Given the description of an element on the screen output the (x, y) to click on. 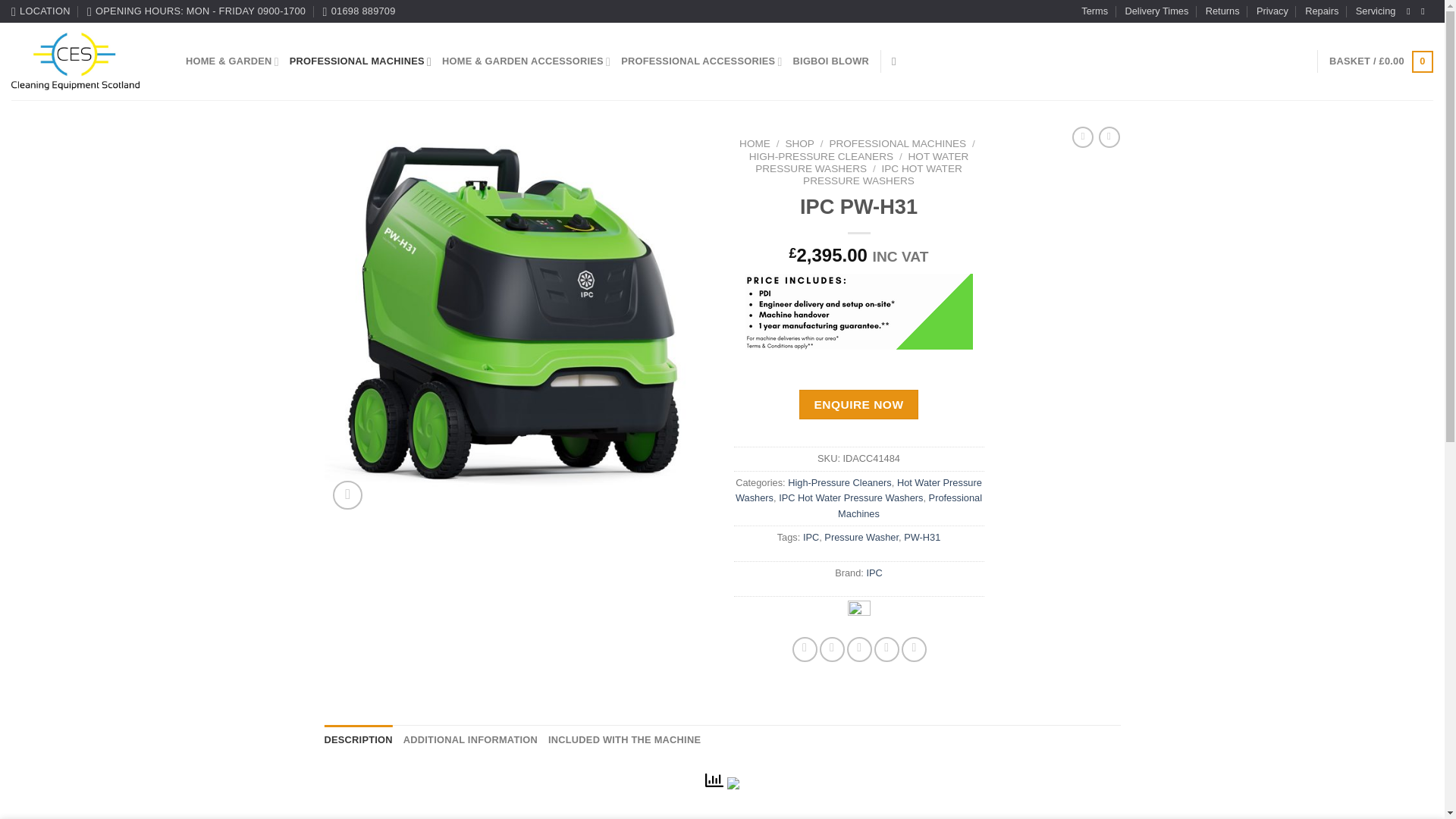
LOCATION (40, 11)
OPENING HOURS: MON - FRIDAY 0900-1700 (196, 11)
Terms (1094, 11)
Karcher Center LPC Service Department (1375, 11)
Repairs (1321, 11)
Basket (1380, 61)
Privacy (1272, 11)
01698 889709 (359, 11)
Opening Hours: Mon - Friday 0900-1700  (196, 11)
